Given the description of an element on the screen output the (x, y) to click on. 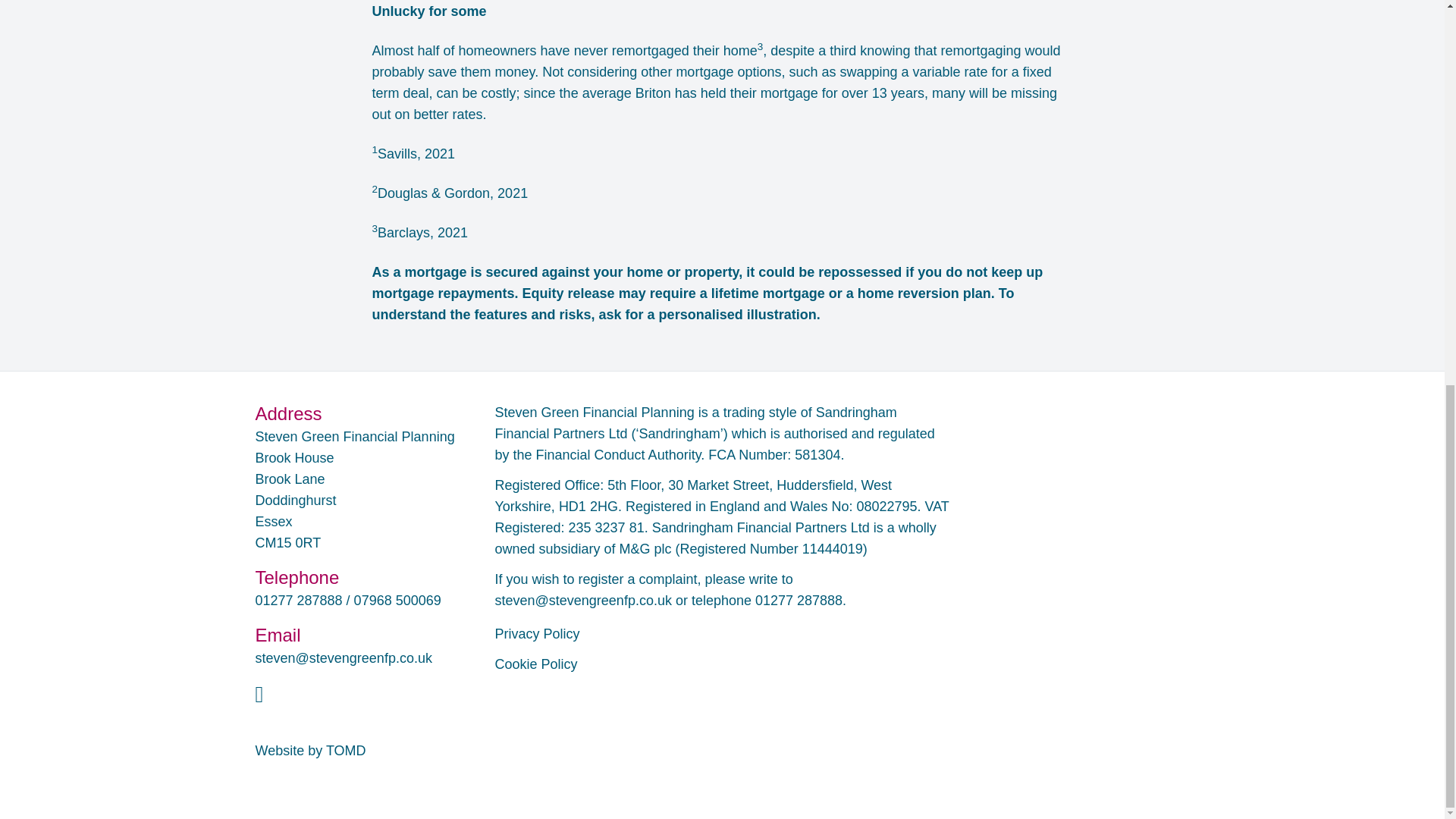
Privacy Policy (537, 633)
TOMD (346, 750)
Cookie Policy (535, 663)
